Given the description of an element on the screen output the (x, y) to click on. 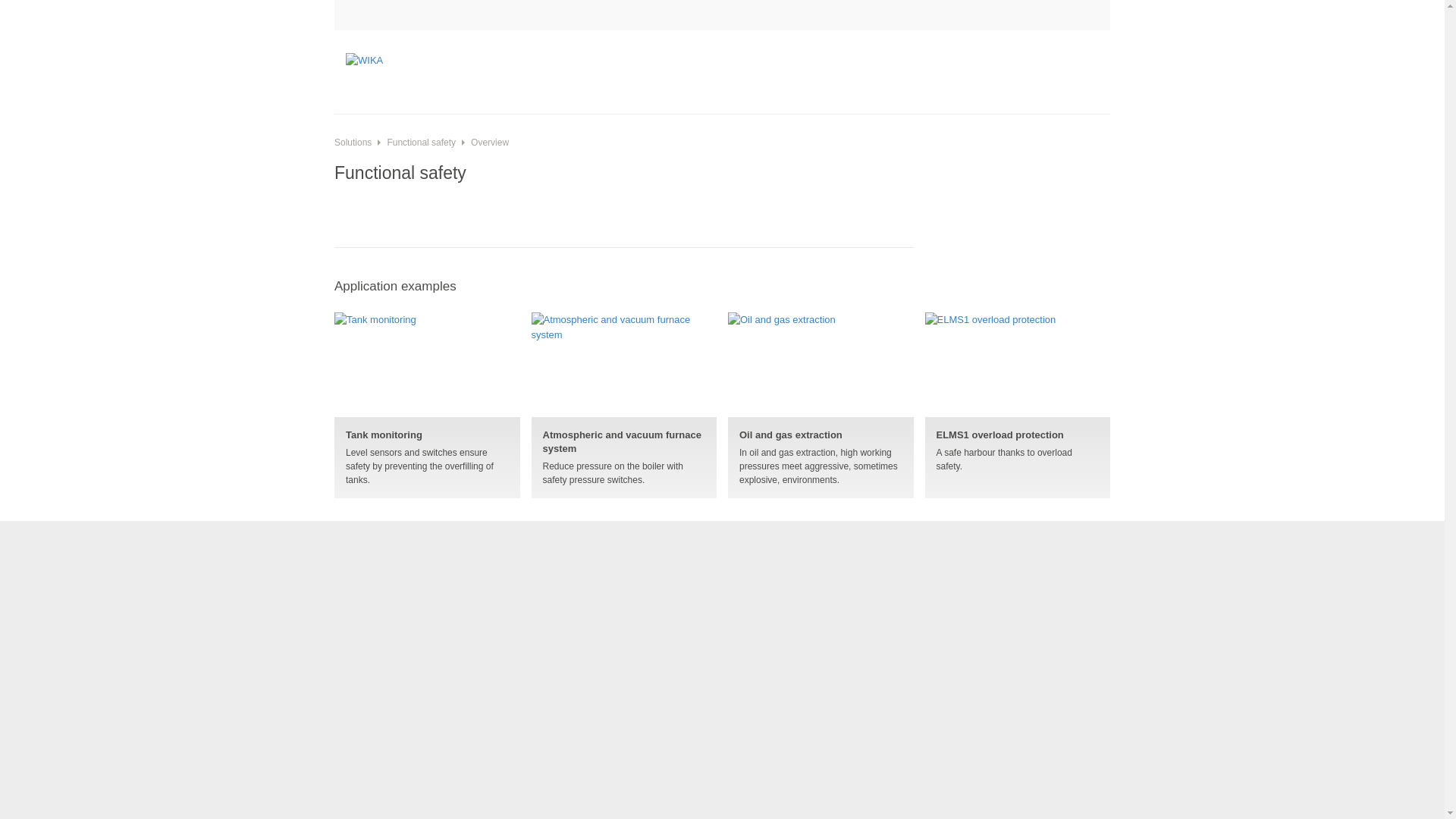
Functional safety (413, 142)
Overview (481, 142)
WIKA (402, 71)
Solutions (352, 142)
